Given the description of an element on the screen output the (x, y) to click on. 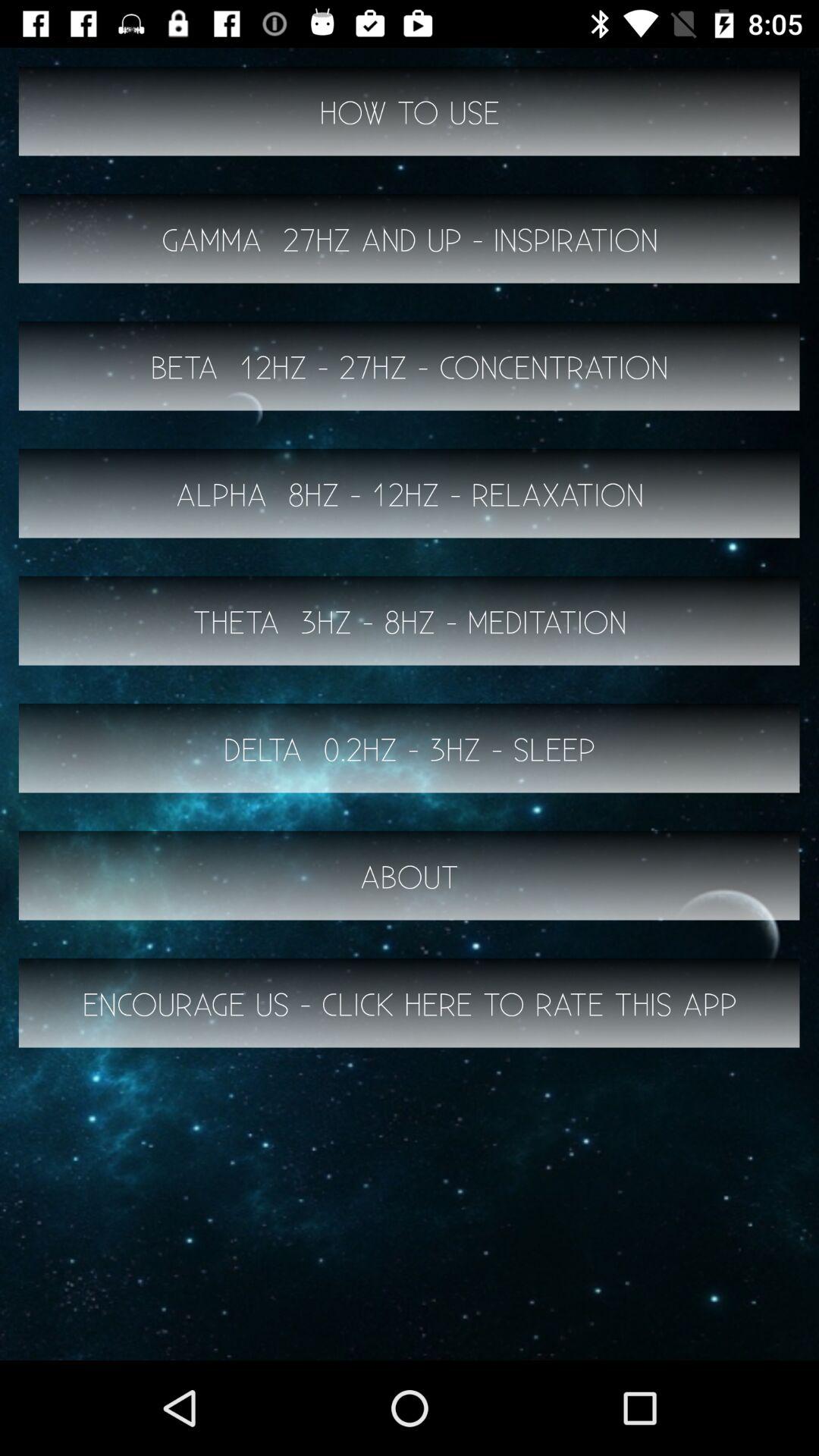
swipe until alpha 8hz 12hz (409, 493)
